Given the description of an element on the screen output the (x, y) to click on. 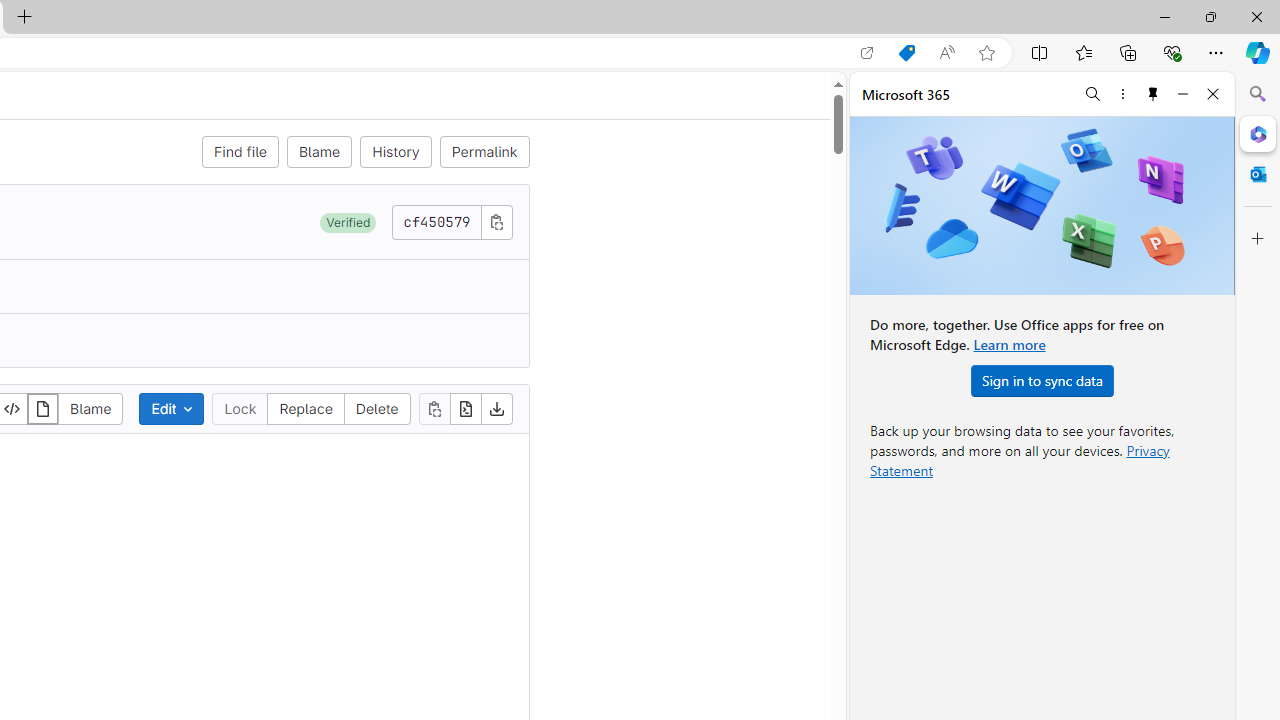
Verified (348, 221)
Open raw (465, 408)
History (395, 151)
Class: s16 gl-icon gl-button-icon  (496, 221)
Lock (240, 408)
Replace (306, 408)
